Given the description of an element on the screen output the (x, y) to click on. 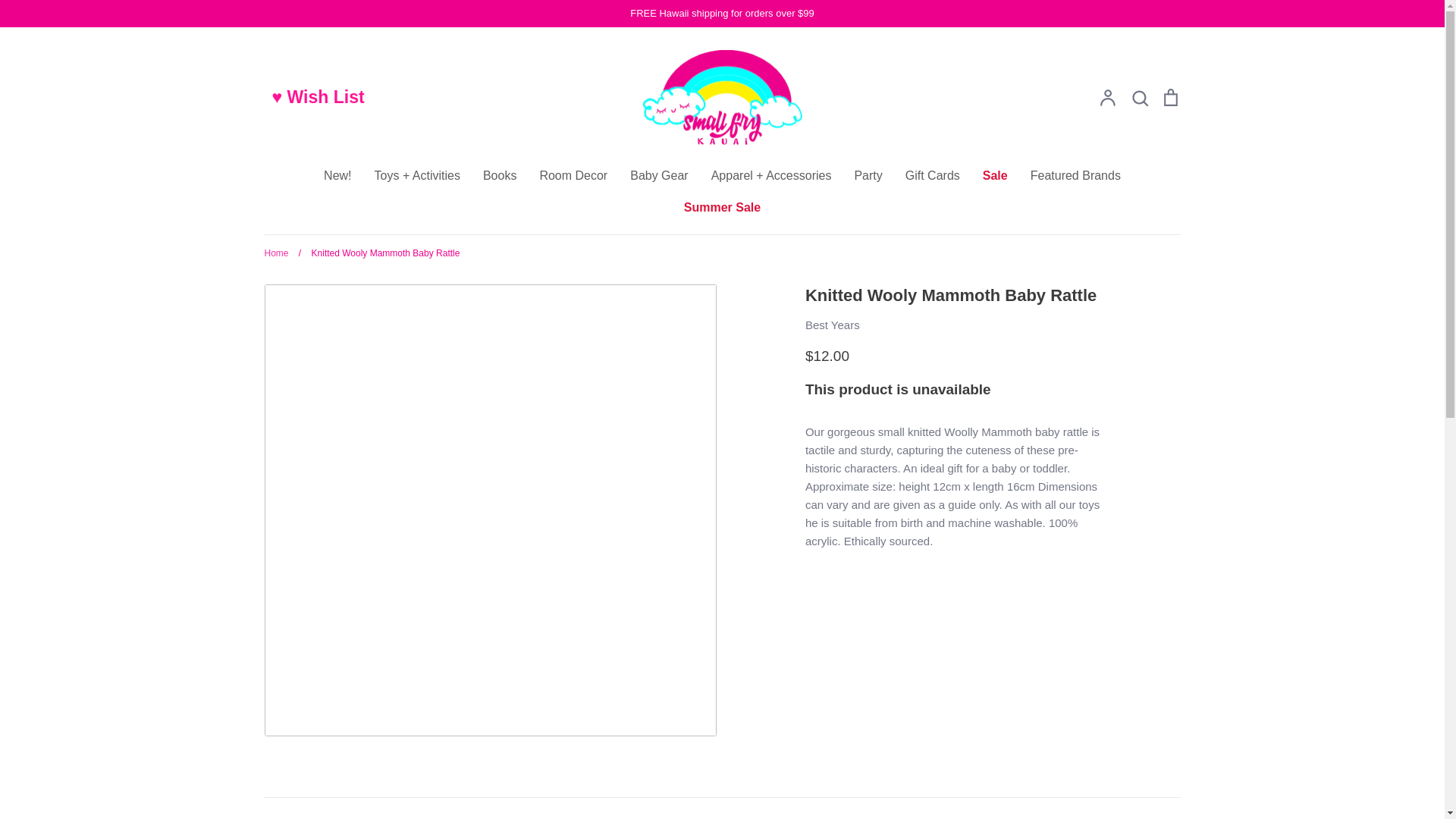
New! (336, 174)
Search (1139, 97)
Account (1107, 97)
Cart (1169, 97)
